Given the description of an element on the screen output the (x, y) to click on. 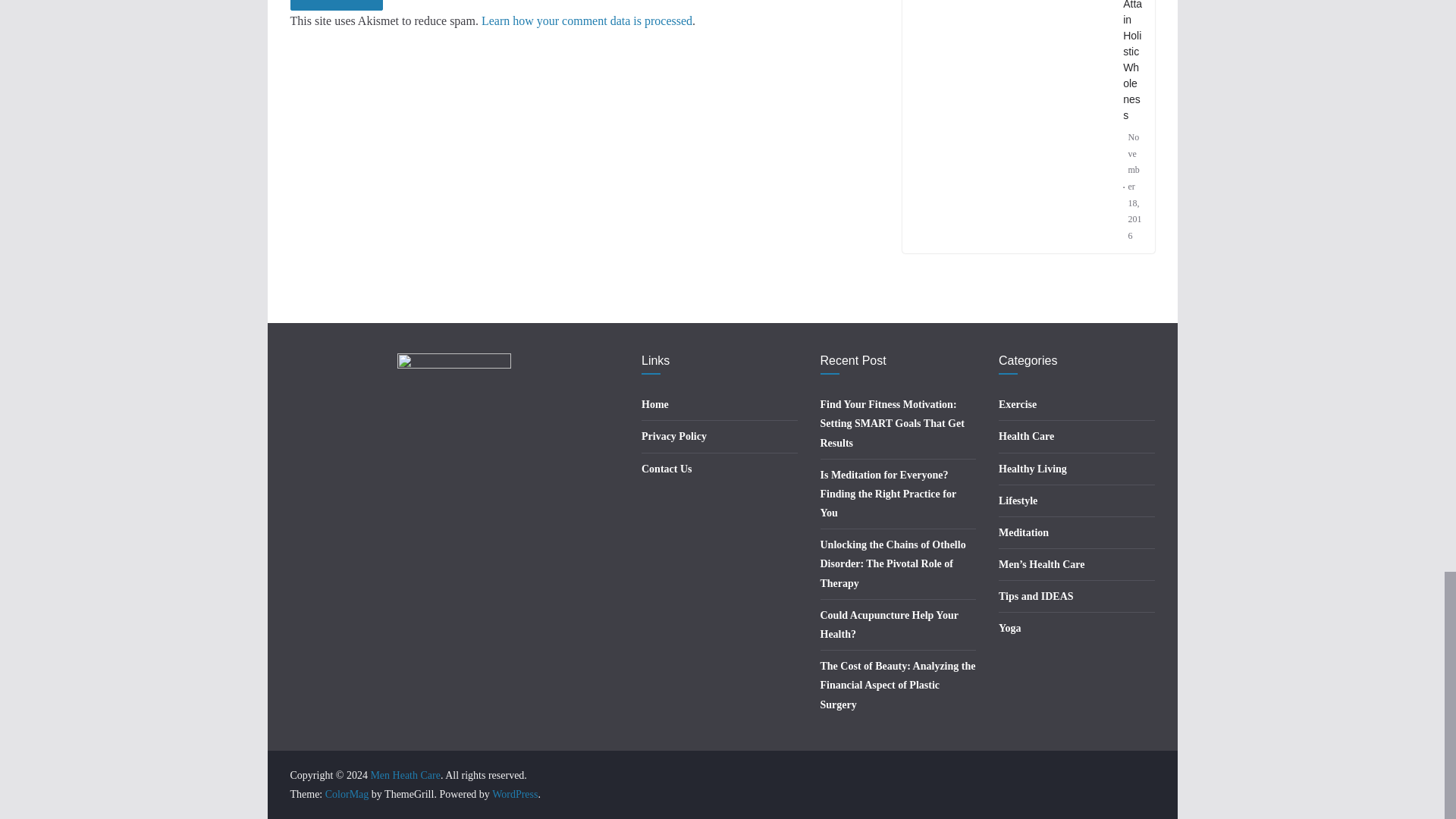
Learn how your comment data is processed (587, 20)
Post Comment (335, 5)
Post Comment (335, 5)
